Given the description of an element on the screen output the (x, y) to click on. 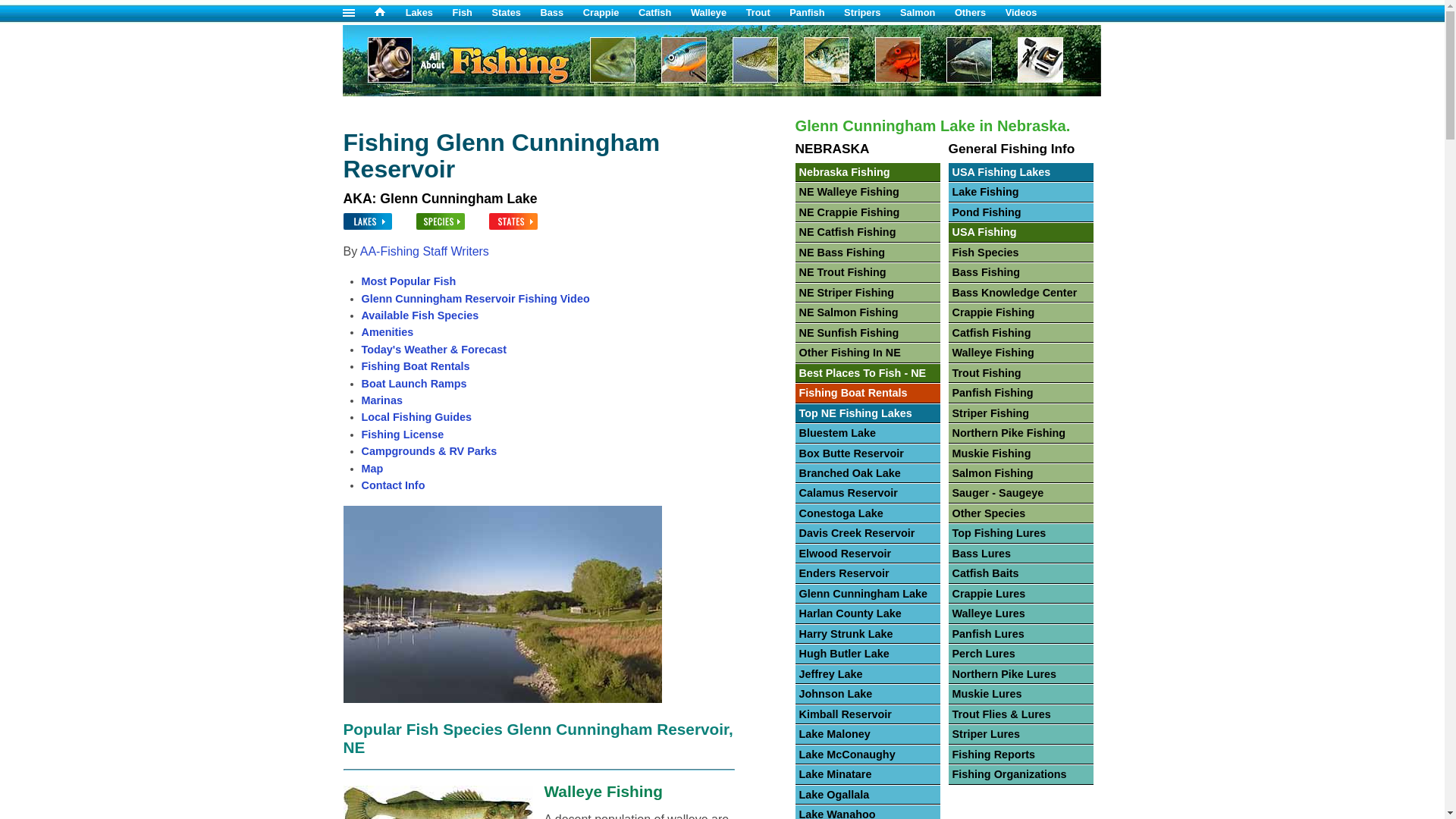
Crappie (611, 12)
Salmon Fishing (927, 12)
Others (980, 12)
All About Fishing (390, 12)
Fishing Lakes (429, 12)
Trout (767, 12)
Fish (472, 12)
Salmon (927, 12)
Boat Launch Ramps (413, 383)
Amenities (387, 331)
Fishing (501, 91)
Walleye Fishing (717, 12)
Stripers (871, 12)
Catfish Fishing (664, 12)
Walleye (717, 12)
